Given the description of an element on the screen output the (x, y) to click on. 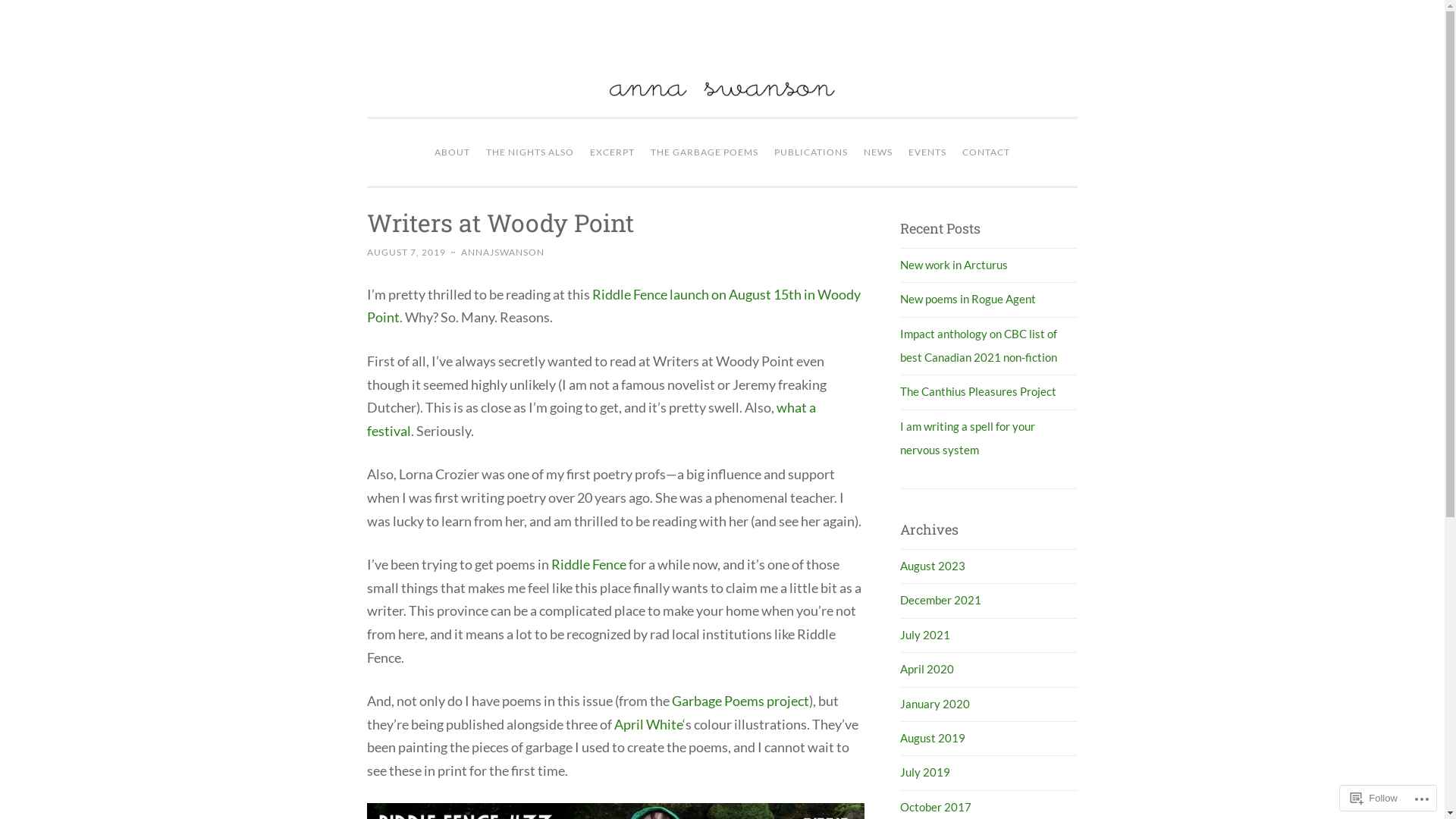
January 2020 Element type: text (934, 703)
July 2019 Element type: text (925, 771)
NEWS Element type: text (877, 152)
ANNAJSWANSON Element type: text (502, 251)
April 2020 Element type: text (926, 668)
August 2019 Element type: text (932, 737)
ABOUT Element type: text (451, 152)
THE GARBAGE POEMS Element type: text (704, 152)
Garbage Poems project Element type: text (740, 700)
The Canthius Pleasures Project Element type: text (978, 391)
I am writing a spell for your nervous system Element type: text (967, 437)
PUBLICATIONS Element type: text (810, 152)
October 2017 Element type: text (935, 806)
what a festival Element type: text (591, 418)
EVENTS Element type: text (927, 152)
Anna Swanson Element type: text (796, 111)
July 2021 Element type: text (925, 634)
New work in Arcturus Element type: text (953, 264)
Riddle Fence Element type: text (588, 563)
THE NIGHTS ALSO Element type: text (529, 152)
April White Element type: text (648, 723)
Riddle Fence launch on August 15th in Woody Point Element type: text (613, 305)
EXCERPT Element type: text (612, 152)
AUGUST 7, 2019 Element type: text (406, 251)
December 2021 Element type: text (940, 599)
August 2023 Element type: text (932, 565)
CONTACT Element type: text (985, 152)
Follow Element type: text (1373, 797)
New poems in Rogue Agent Element type: text (967, 298)
